Given the description of an element on the screen output the (x, y) to click on. 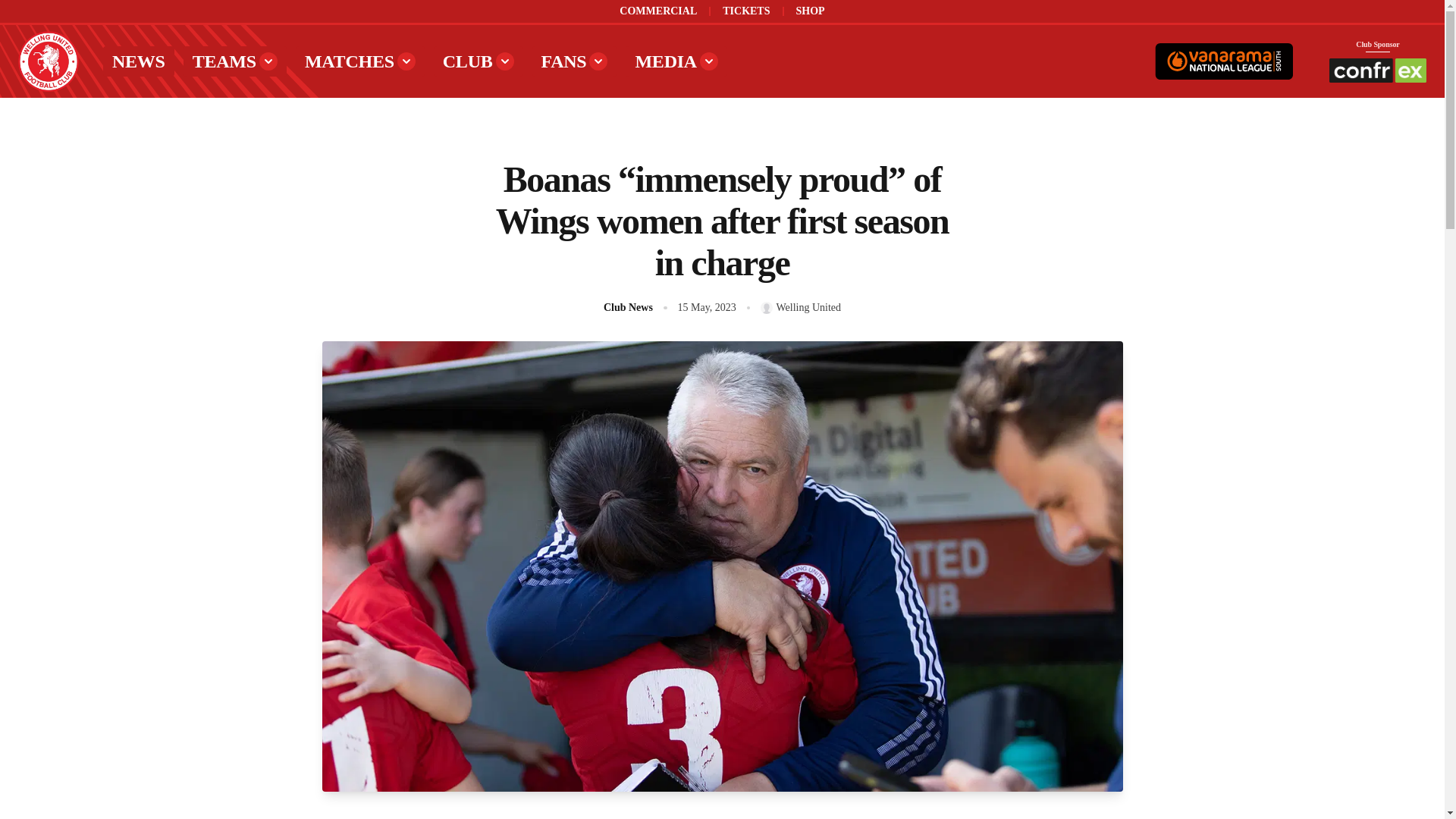
NEWS (138, 60)
COMMERCIAL (658, 10)
TEAMS (234, 60)
TICKETS (746, 10)
SHOP (810, 10)
MATCHES (360, 60)
